Given the description of an element on the screen output the (x, y) to click on. 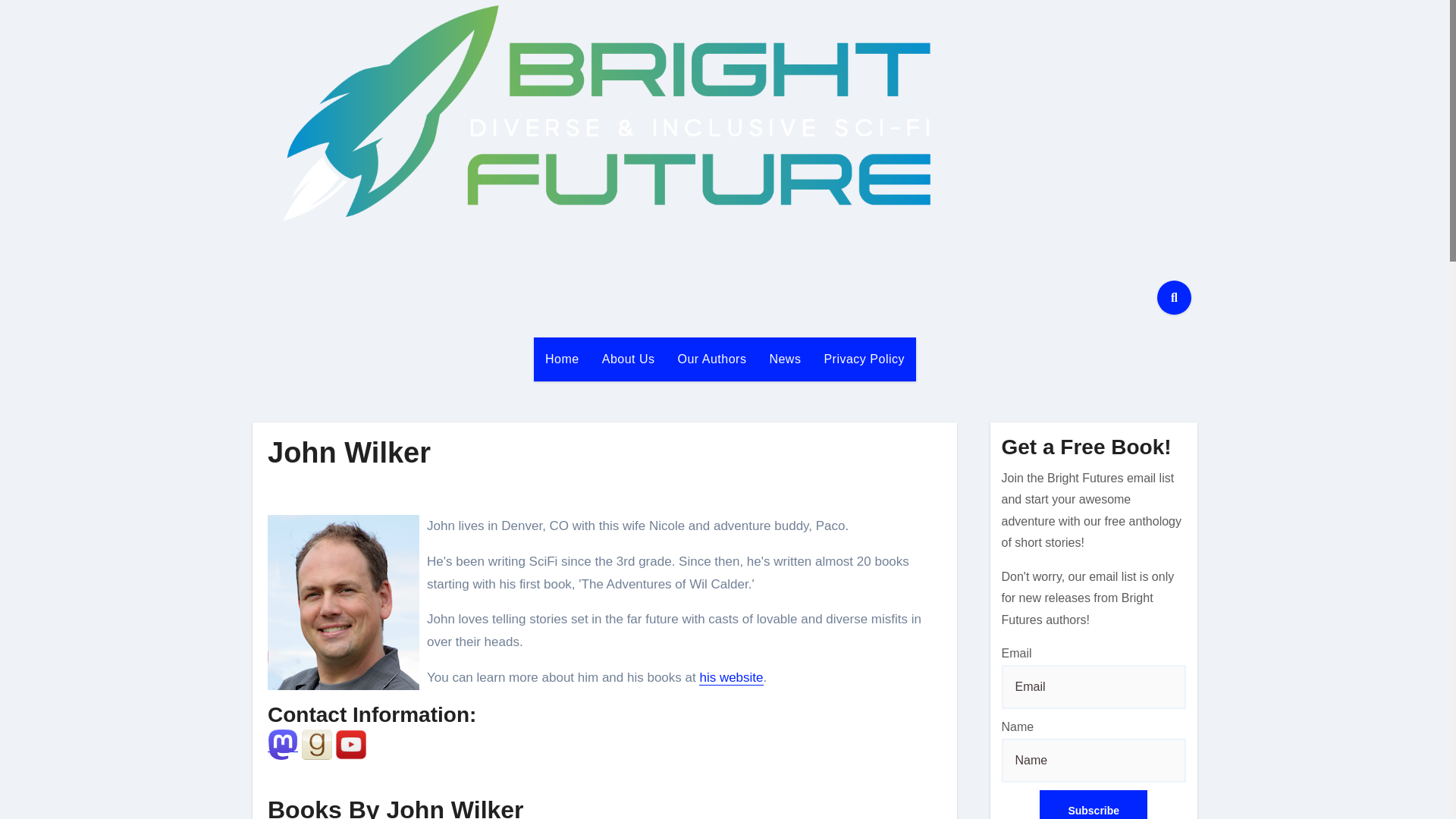
Privacy Policy (863, 359)
Home (562, 359)
Home (562, 359)
Permalink to: John Wilker (348, 452)
John Wilker (348, 452)
About Us (628, 359)
Our Authors (712, 359)
Our Authors (712, 359)
News (784, 359)
Privacy Policy (863, 359)
